Given the description of an element on the screen output the (x, y) to click on. 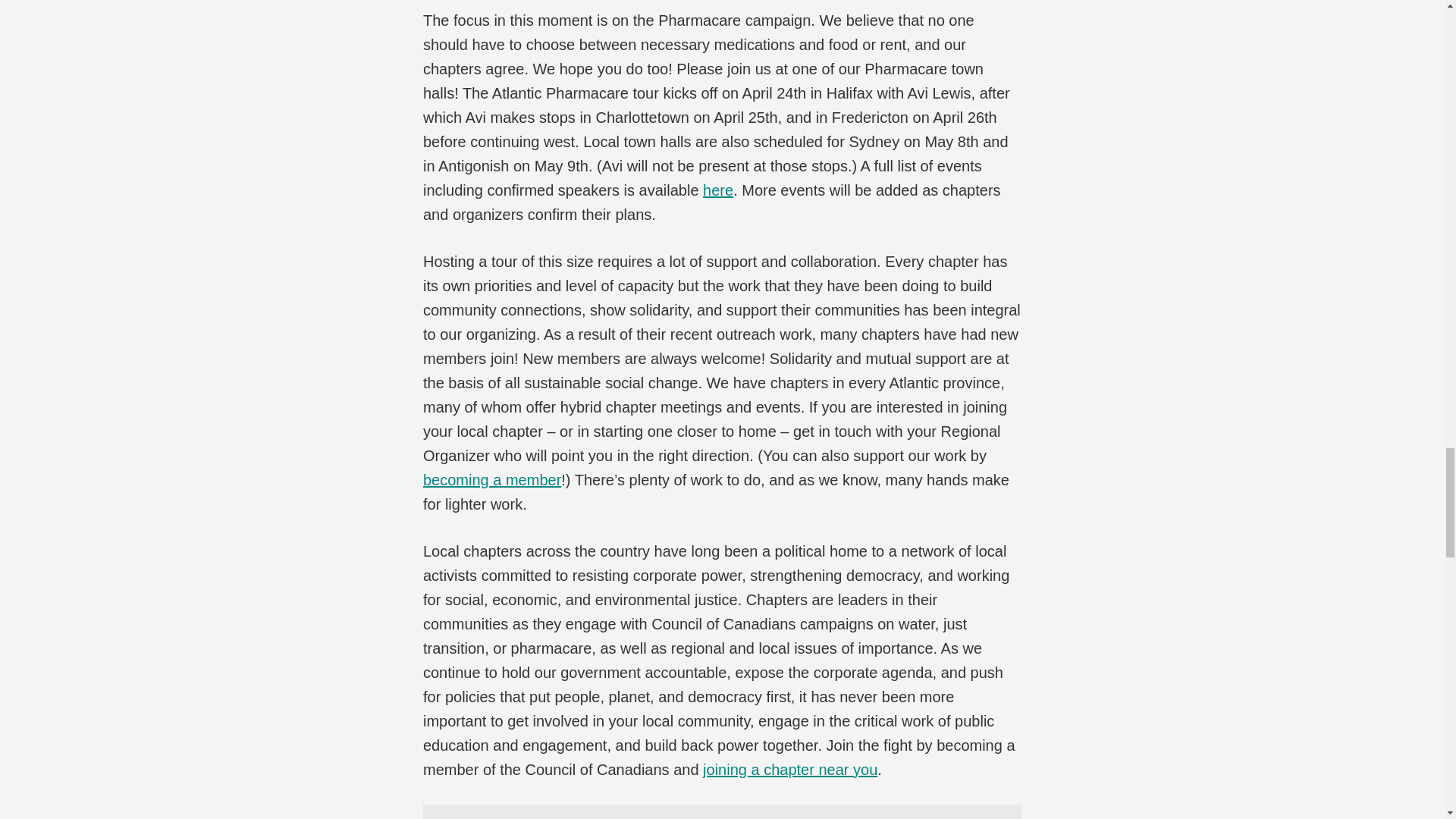
becoming a member (491, 479)
joining a chapter near you (790, 769)
here (718, 190)
